Given the description of an element on the screen output the (x, y) to click on. 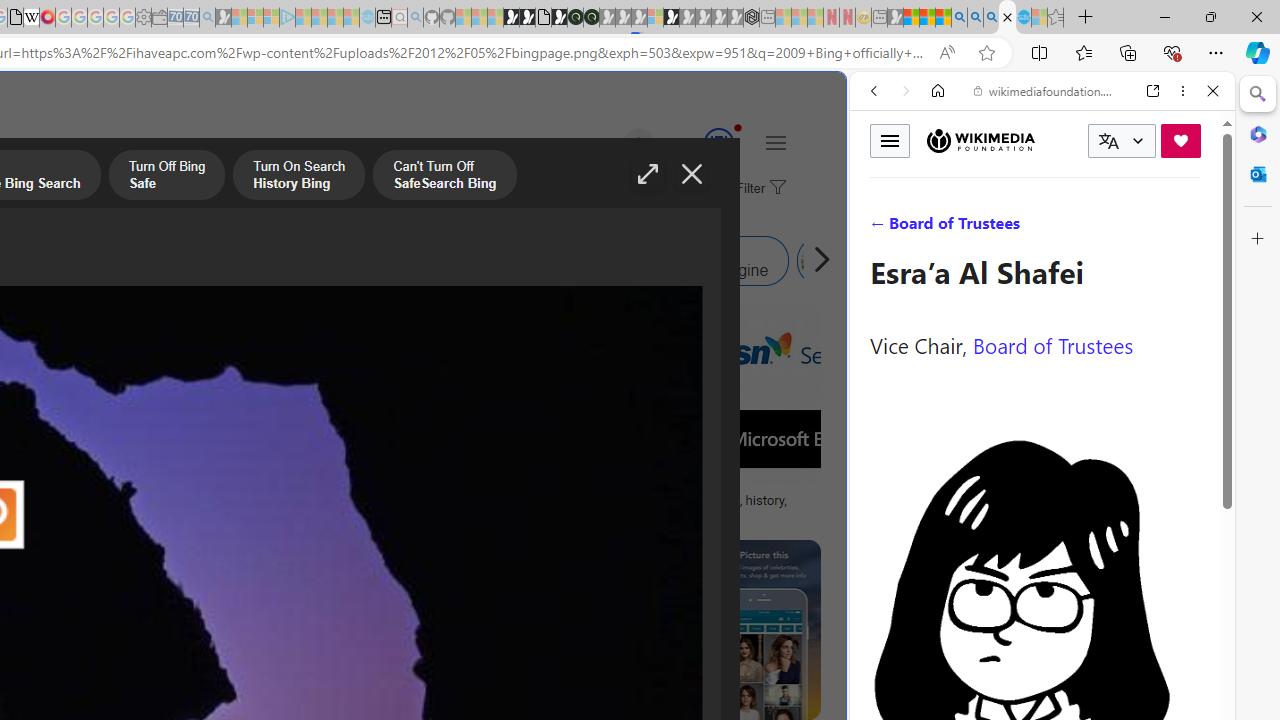
This site scope (936, 180)
Microsoft Rewards 84 (700, 143)
Search Filter, WEB (882, 228)
Home | Sky Blue Bikes - Sky Blue Bikes (687, 426)
Bing Image Search Similar Images (416, 260)
Services - Maintenance | Sky Blue Bikes - Sky Blue Bikes (1023, 17)
github - Search - Sleeping (415, 17)
AutomationID: rh_meter (718, 142)
Eugene (611, 143)
